Given the description of an element on the screen output the (x, y) to click on. 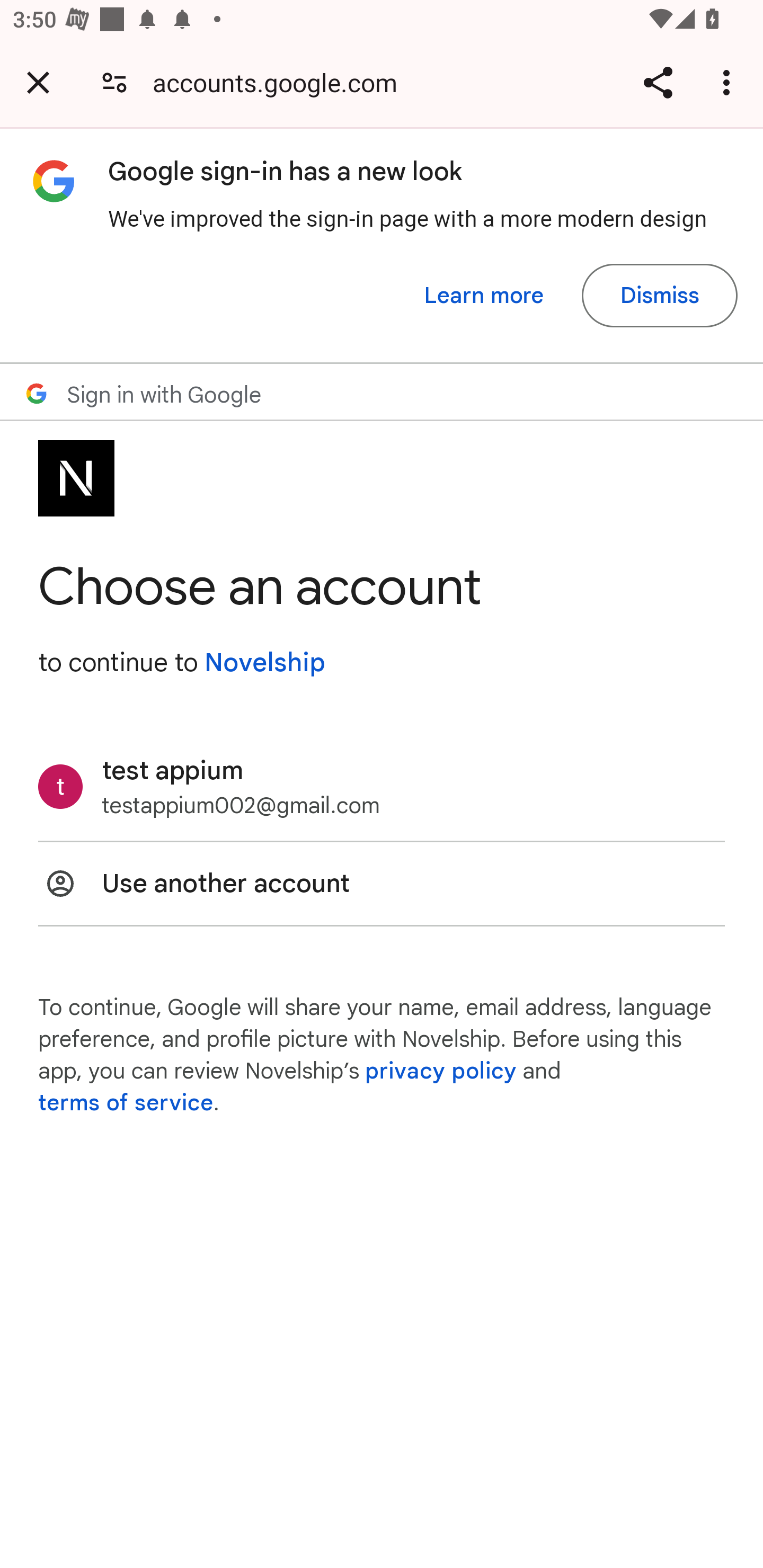
Close tab (38, 82)
Share (657, 82)
Customize and control Google Chrome (729, 82)
Connection is secure (114, 81)
accounts.google.com (281, 81)
Learn more (483, 295)
Dismiss (659, 295)
Novelship (264, 662)
Use another account (381, 883)
privacy policy (440, 1070)
terms of service (126, 1102)
